Given the description of an element on the screen output the (x, y) to click on. 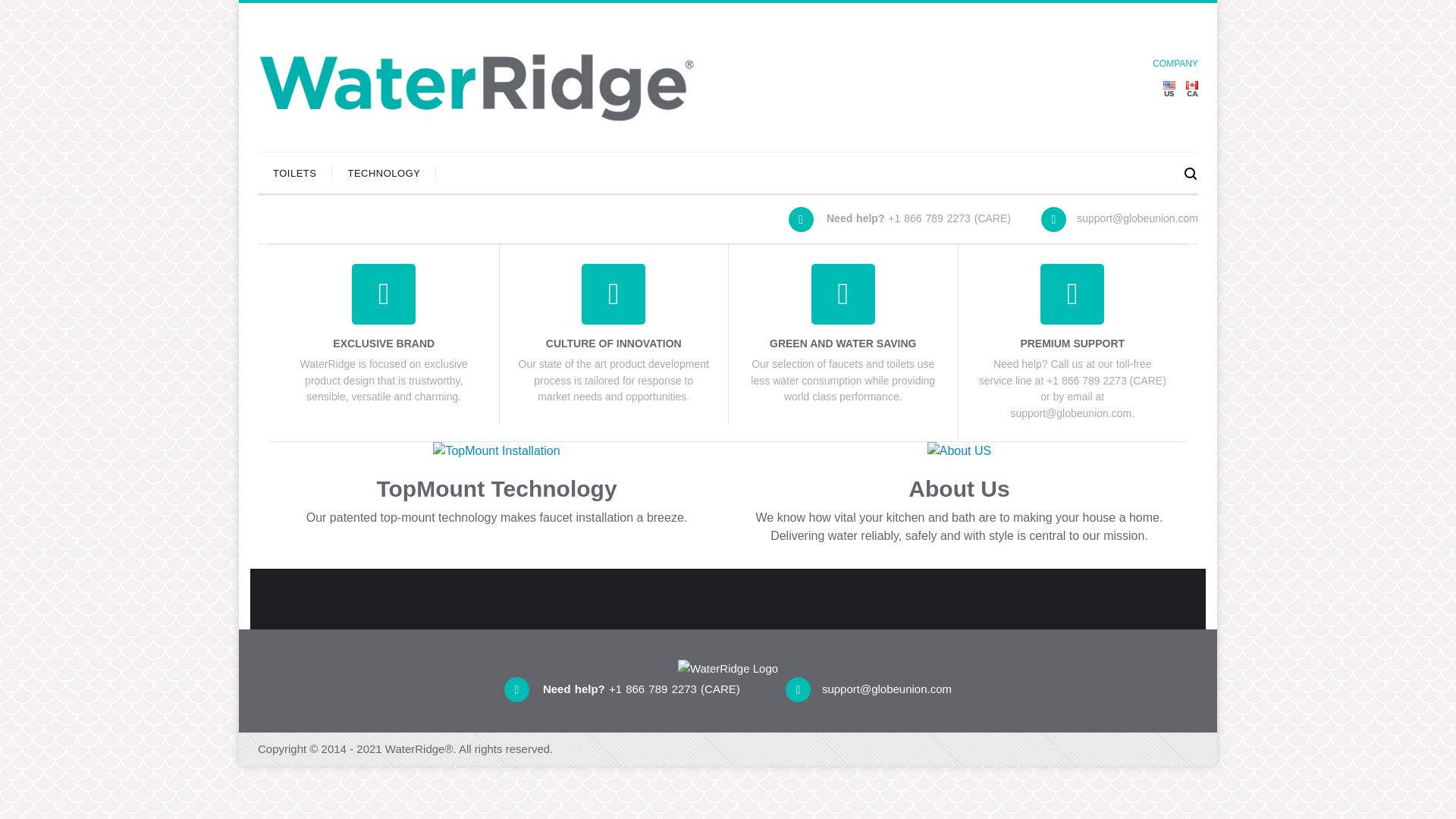
Technology (383, 173)
TopMount Installation (495, 451)
TOILETS (294, 173)
TECHNOLOGY (383, 173)
Toilets (294, 173)
